Given the description of an element on the screen output the (x, y) to click on. 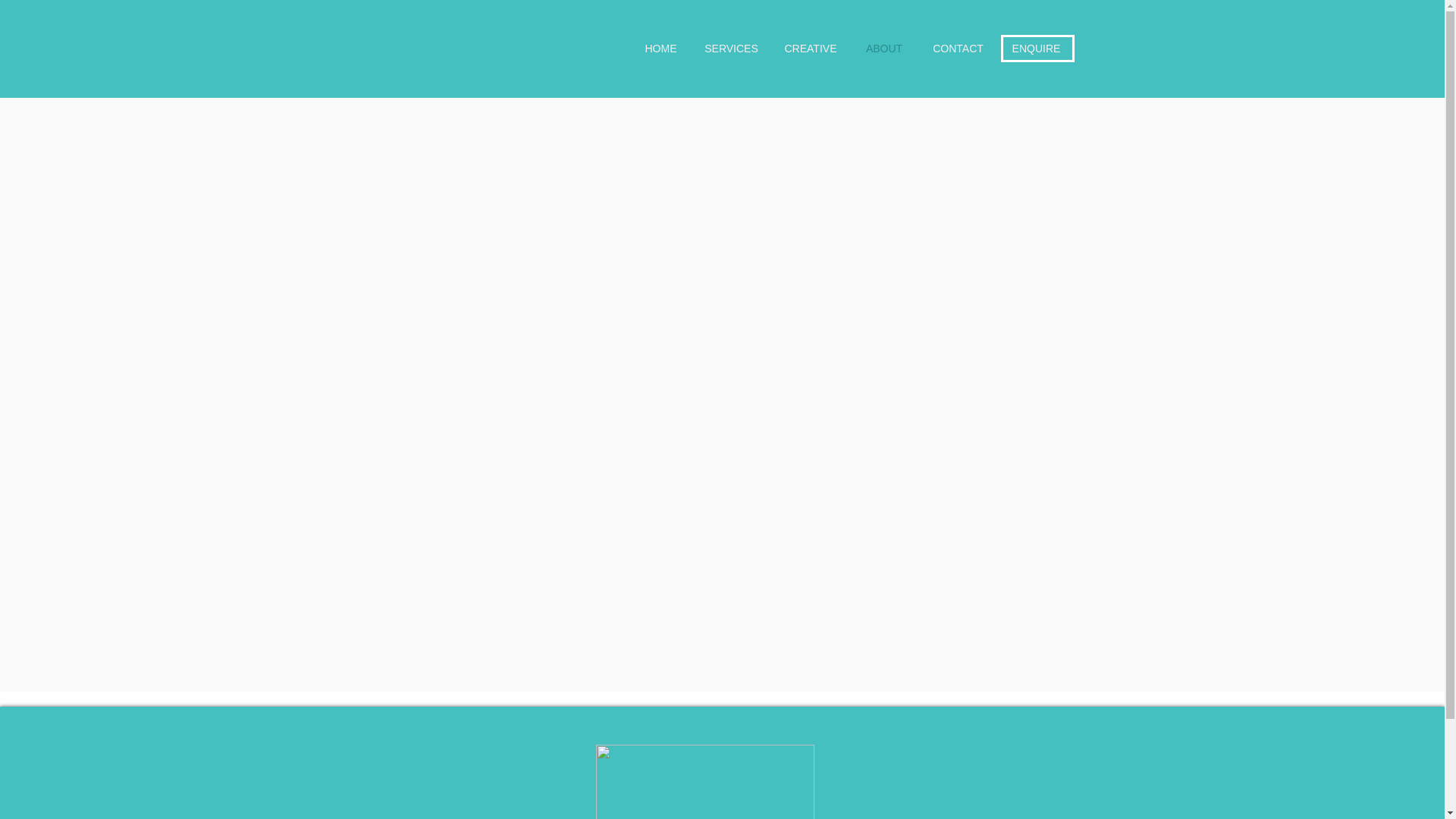
ABOUT (884, 48)
HOME (659, 48)
SERVICES (730, 48)
CONTACT (957, 48)
CREATIVE (810, 48)
ENQUIRE (1035, 48)
